Given the description of an element on the screen output the (x, y) to click on. 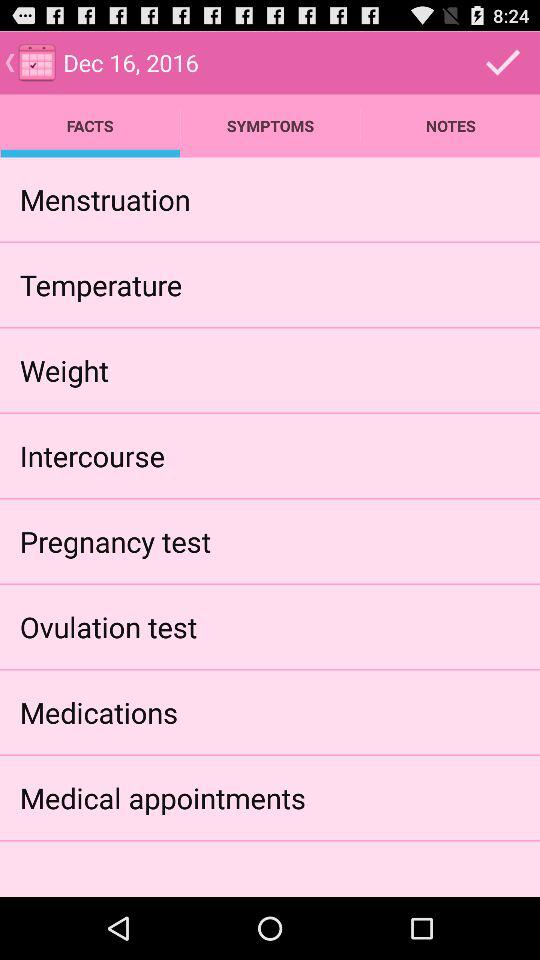
click icon above the notes app (503, 62)
